Given the description of an element on the screen output the (x, y) to click on. 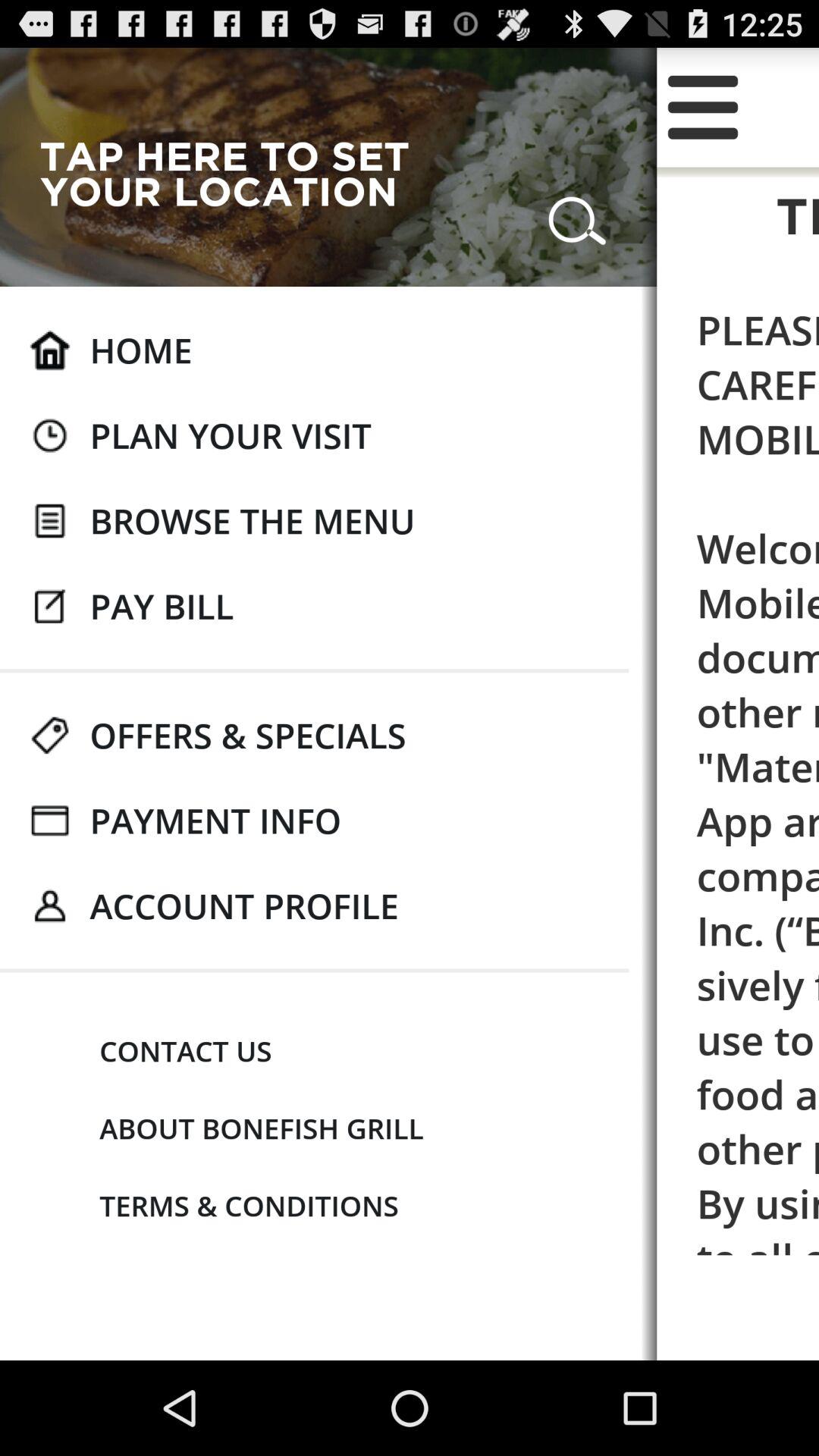
launch y icon (702, 107)
